Given the description of an element on the screen output the (x, y) to click on. 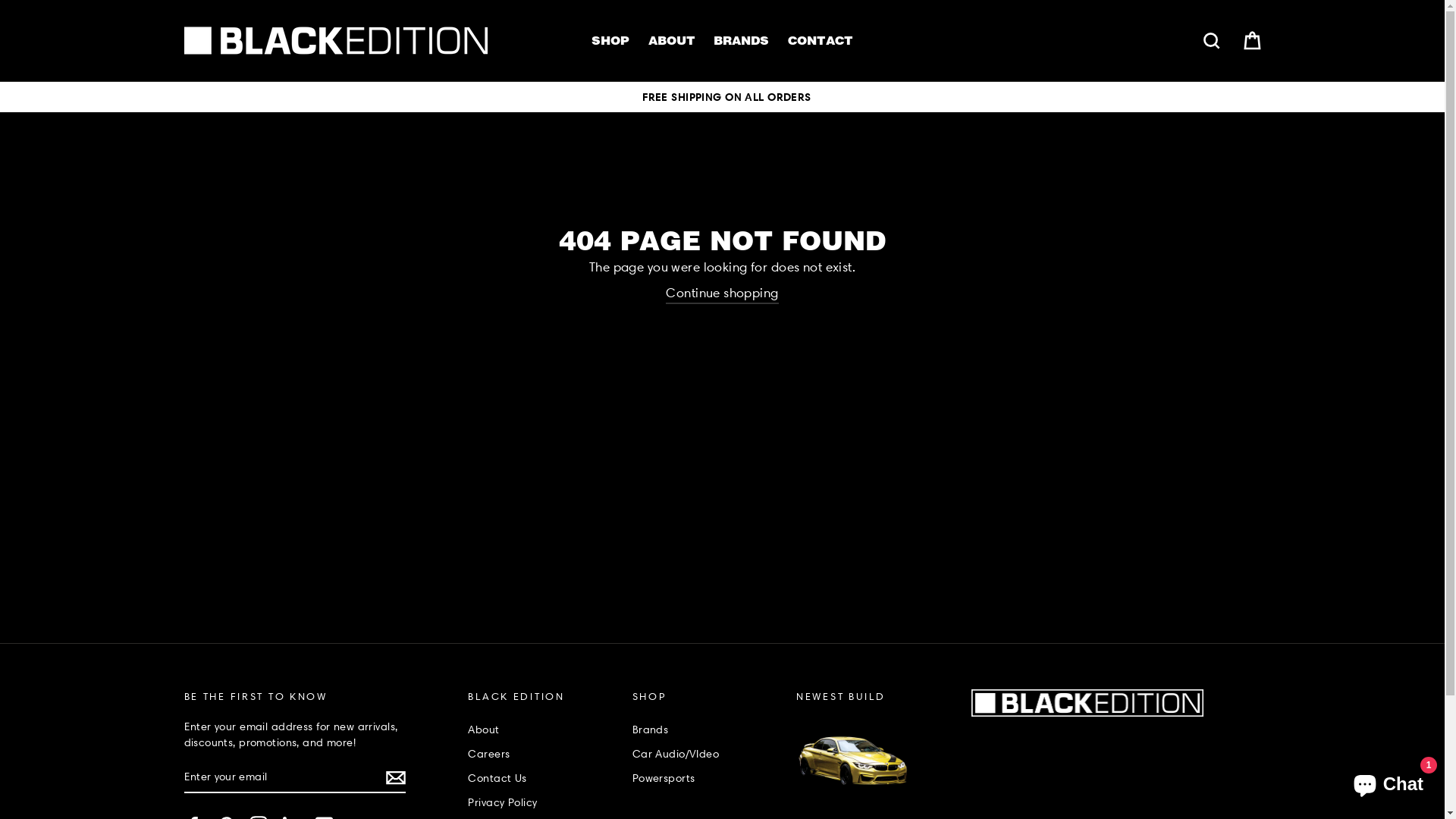
BRANDS Element type: text (741, 40)
Continue shopping Element type: text (721, 294)
SHOP Element type: text (610, 40)
Contact Us Element type: text (541, 777)
ABOUT Element type: text (671, 40)
Brands Element type: text (705, 729)
Powersports Element type: text (705, 777)
CONTACT Element type: text (820, 40)
Skip to content Element type: text (0, 0)
Privacy Policy Element type: text (541, 801)
CART Element type: text (1251, 40)
Car Audio/VIdeo Element type: text (705, 753)
About Element type: text (541, 729)
Shopify online store chat Element type: hover (1388, 780)
Careers Element type: text (541, 753)
